Given the description of an element on the screen output the (x, y) to click on. 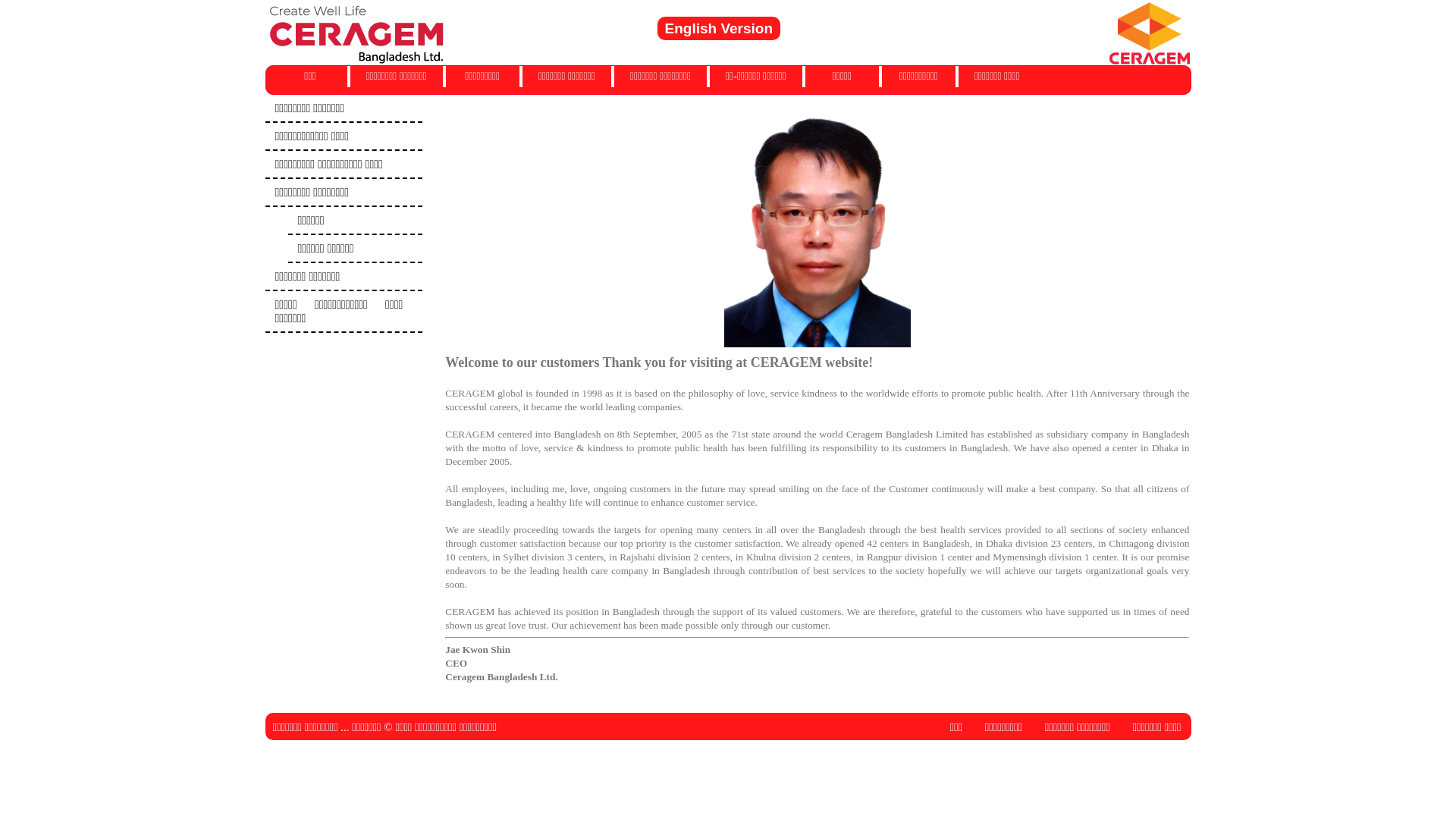
English Version Element type: text (718, 28)
